Given the description of an element on the screen output the (x, y) to click on. 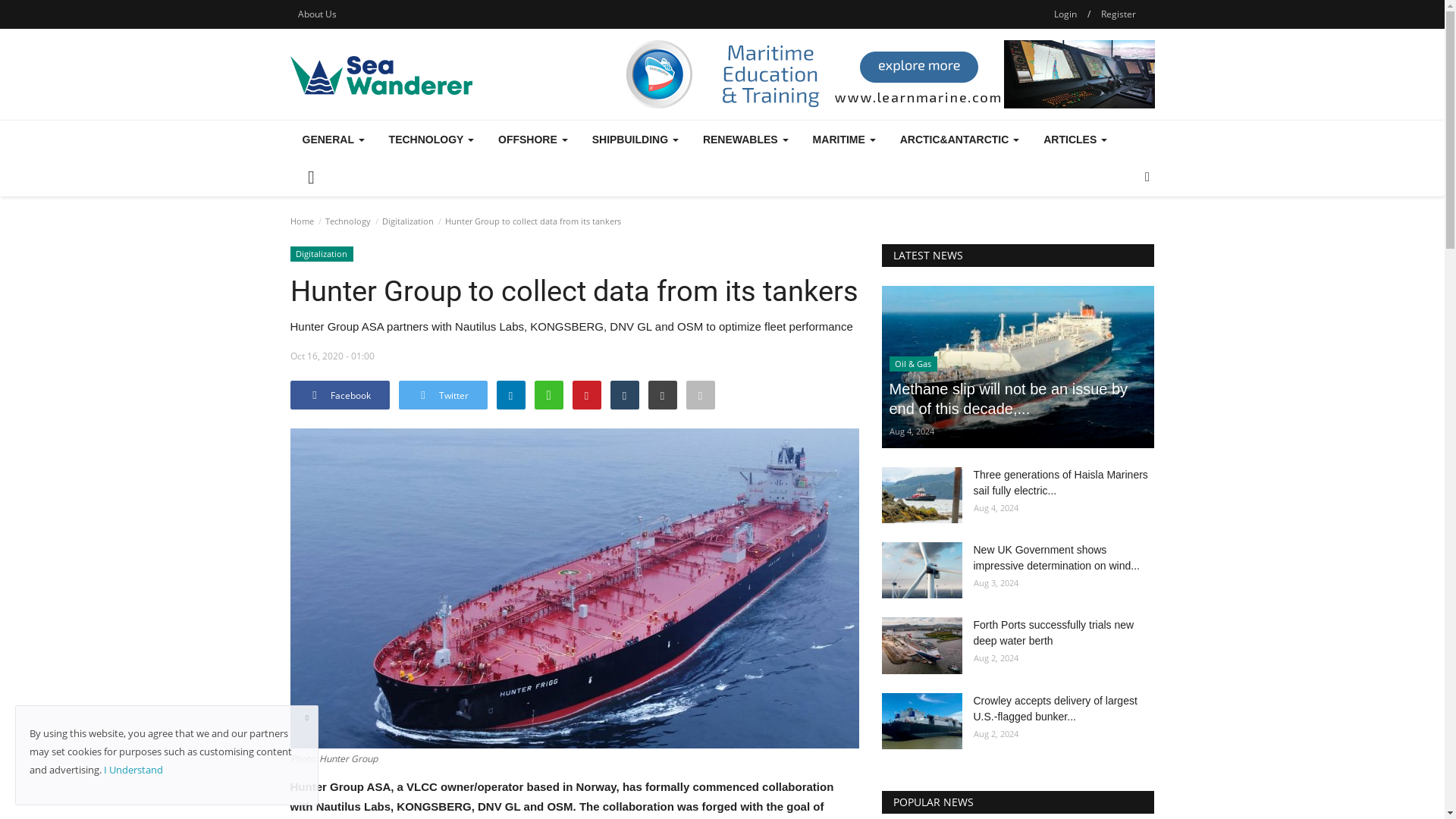
About Us (316, 14)
GENERAL (332, 139)
Register (1117, 14)
Login (1065, 14)
